Given the description of an element on the screen output the (x, y) to click on. 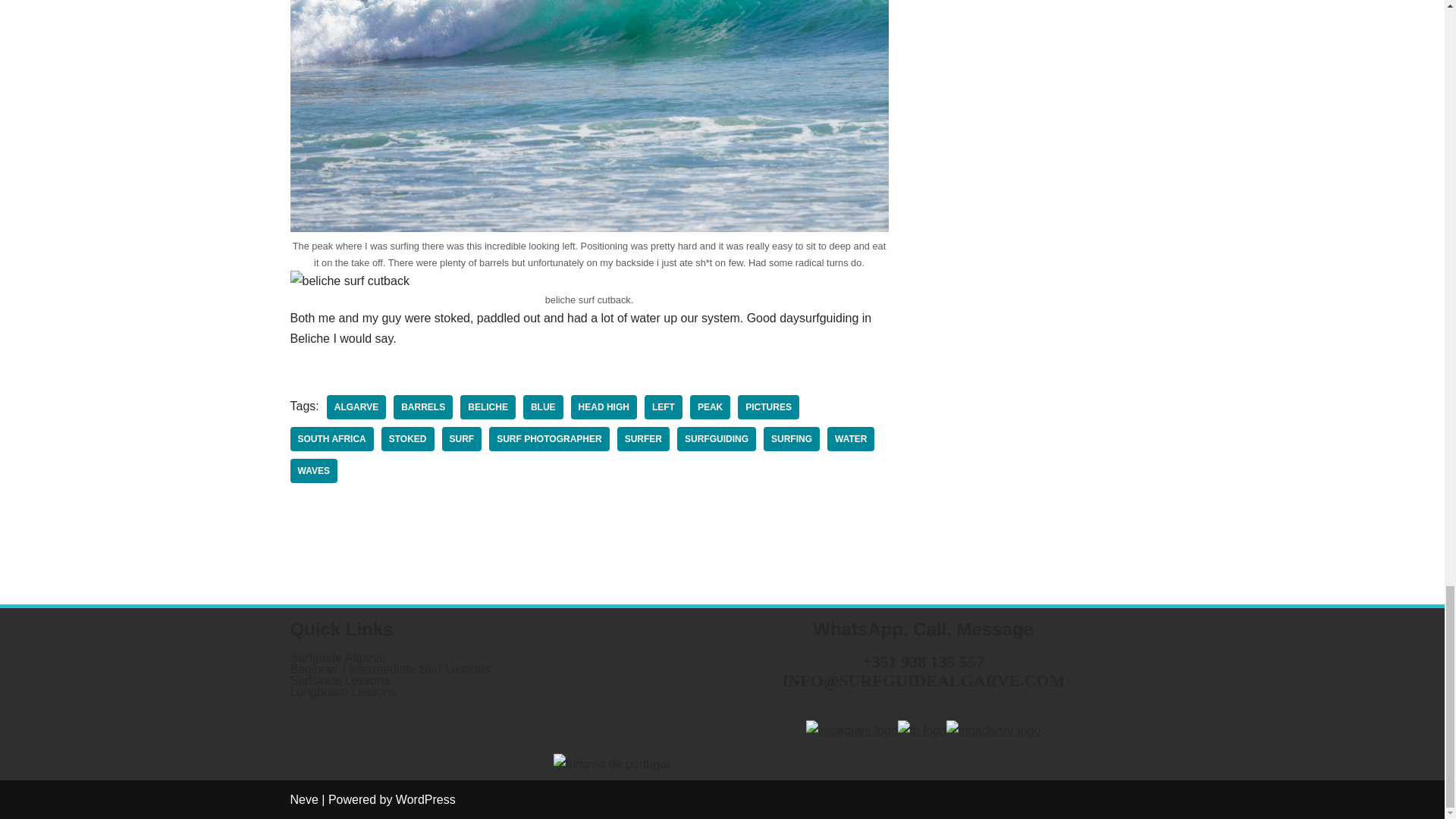
algarve (355, 406)
beliche (487, 406)
left (663, 406)
surf (461, 438)
blue (542, 406)
head high (603, 406)
south africa (330, 438)
stoked (407, 438)
barrels (422, 406)
peak (710, 406)
